Given the description of an element on the screen output the (x, y) to click on. 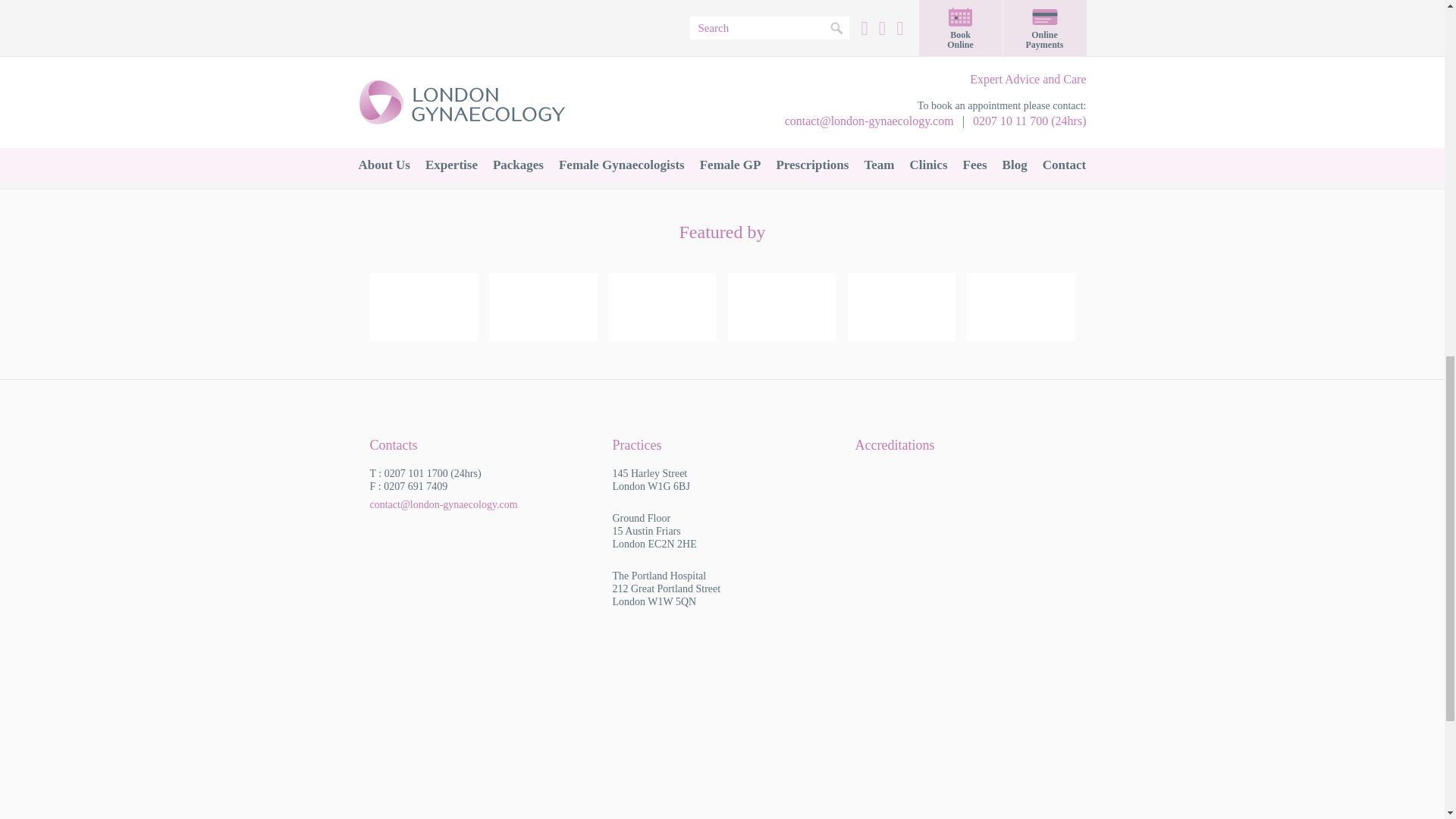
London Early Pregnancy (816, 35)
London Fertility (992, 35)
London Fibroids (639, 35)
London Menopause (463, 112)
London Colposcopy (463, 35)
